Given the description of an element on the screen output the (x, y) to click on. 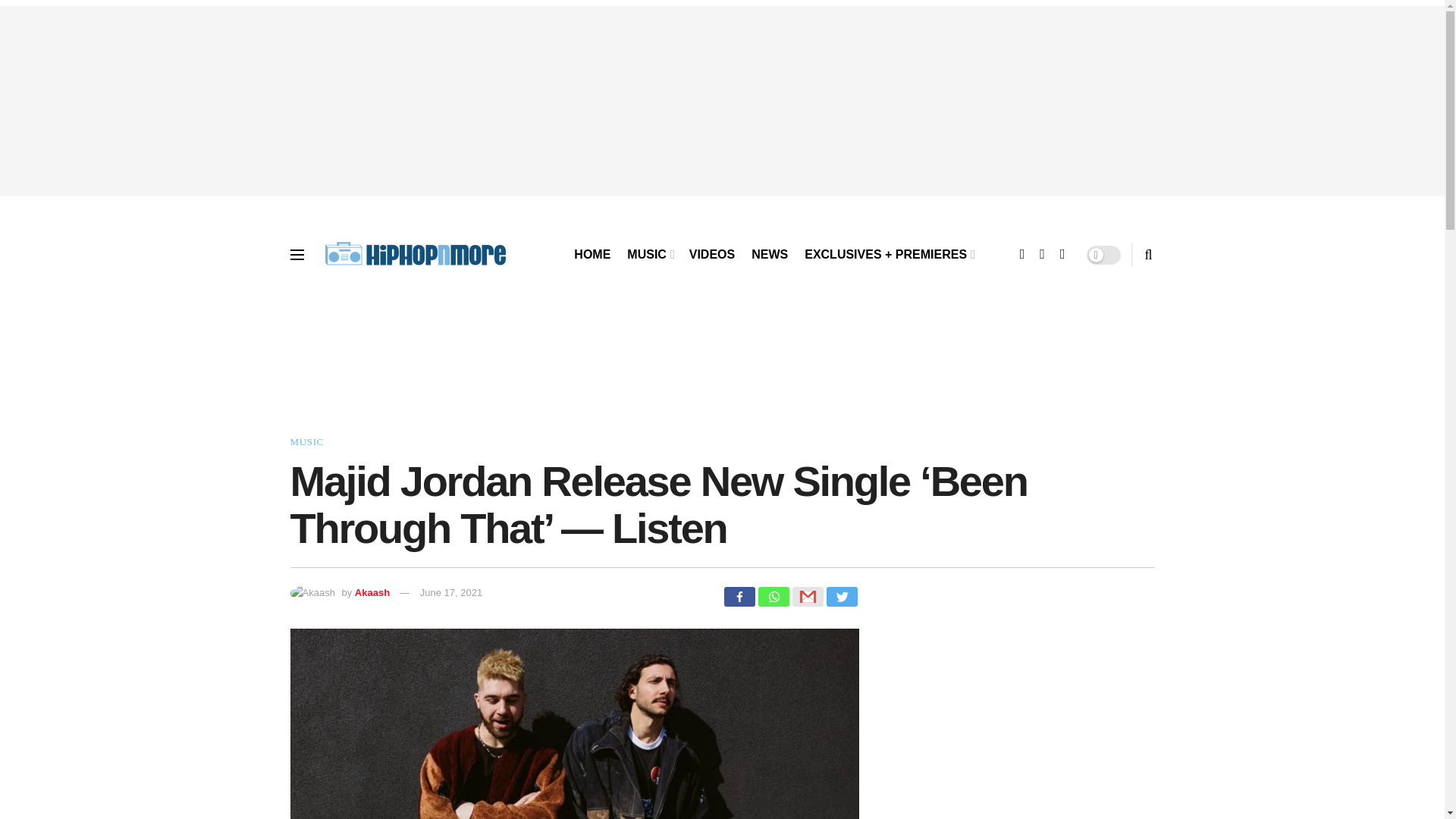
VIDEOS (711, 254)
3rd party ad content (721, 370)
Twitter (842, 596)
Akaash (372, 592)
HOME (591, 254)
MUSIC (306, 441)
NEWS (769, 254)
3rd party ad content (1007, 723)
MUSIC (649, 254)
Facebook (738, 596)
Google Gmail (807, 596)
June 17, 2021 (450, 592)
Whatsapp (773, 596)
